Given the description of an element on the screen output the (x, y) to click on. 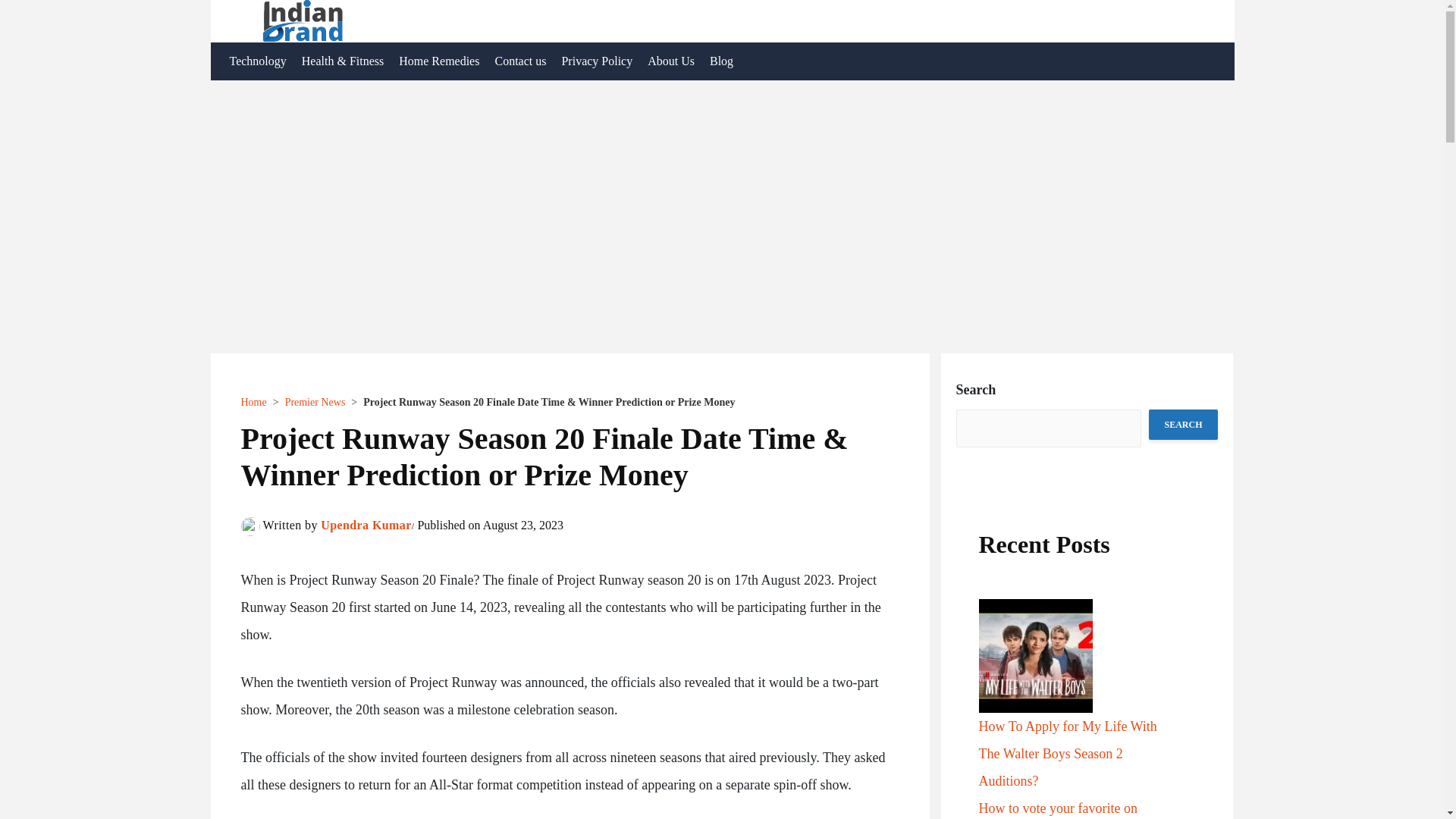
SEARCH (1182, 424)
Home (253, 401)
Upendra Kumar (365, 524)
Home Remedies (438, 61)
Technology (257, 61)
Blog (721, 61)
About Us (670, 61)
Home (253, 401)
Posts by Upendra Kumar (365, 524)
Contact us (519, 61)
Premier News (315, 401)
Privacy Policy (596, 61)
